Given the description of an element on the screen output the (x, y) to click on. 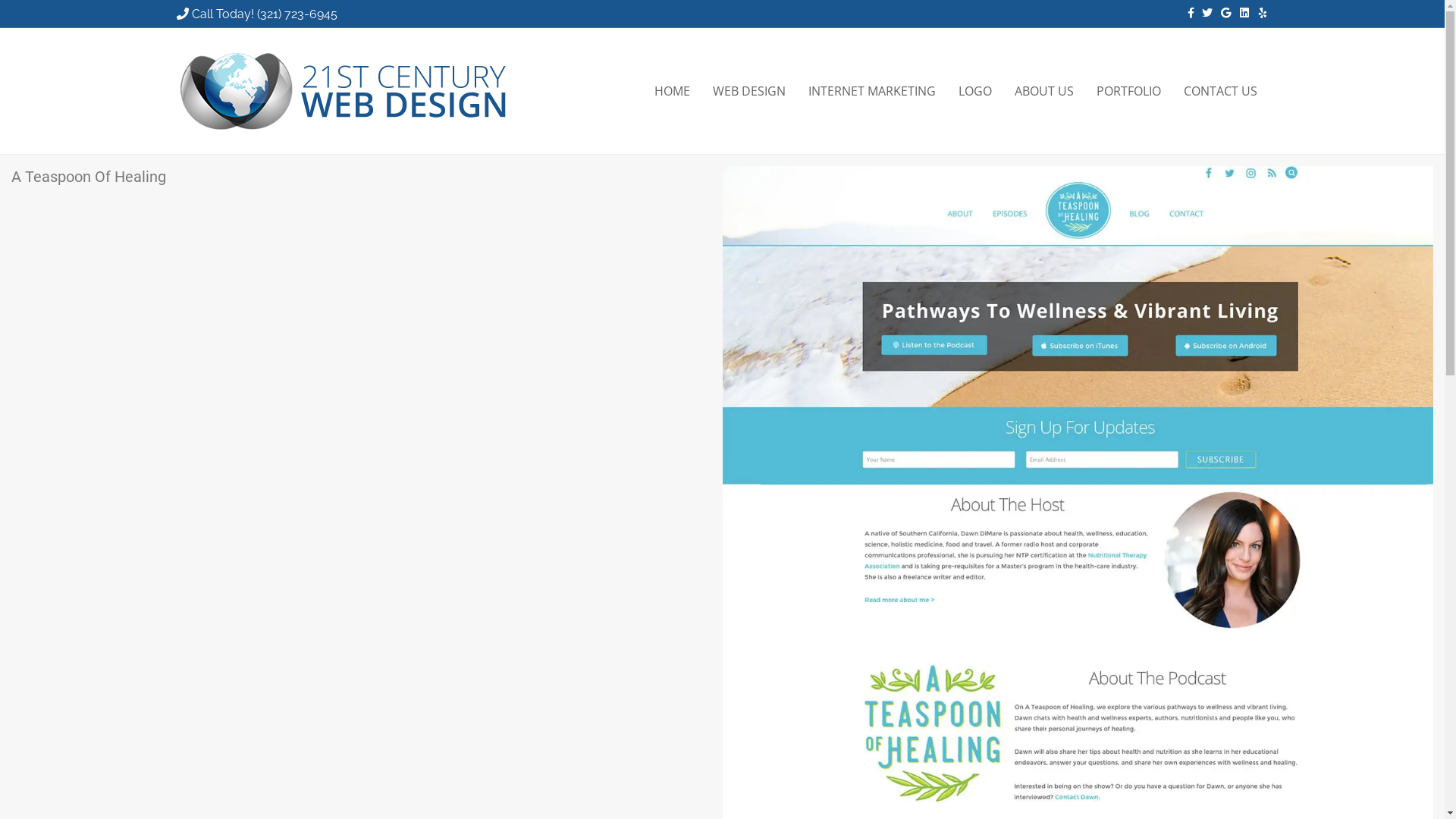
Yelp Element type: text (1257, 11)
Twitter Element type: text (1202, 11)
HOME Element type: text (672, 90)
Facebook Element type: text (1184, 11)
INTERNET MARKETING Element type: text (871, 90)
ABOUT US Element type: text (1043, 90)
LOGO Element type: text (974, 90)
PORTFOLIO Element type: text (1127, 90)
CONTACT US Element type: text (1220, 90)
(321) 723-6945 Element type: text (296, 13)
WEB DESIGN Element type: text (748, 90)
Linkedin Element type: text (1239, 11)
Google Element type: text (1220, 11)
